Given the description of an element on the screen output the (x, y) to click on. 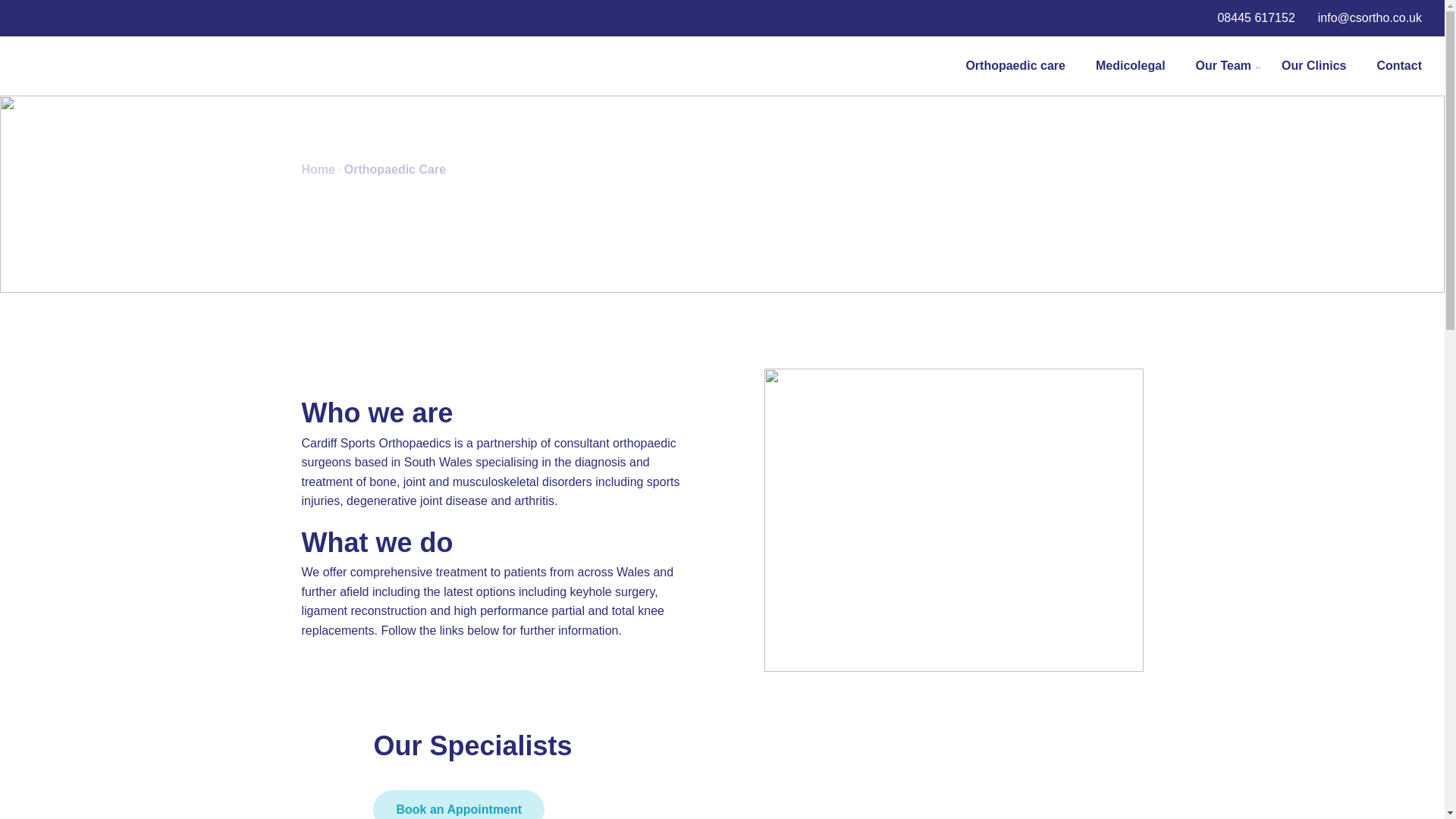
Our Clinics (1313, 65)
Medicolegal (1131, 65)
08445 617152 (1255, 18)
Book an Appointment (458, 804)
Our Team (1223, 65)
Home (317, 169)
Orthopaedic care (1015, 65)
